Given the description of an element on the screen output the (x, y) to click on. 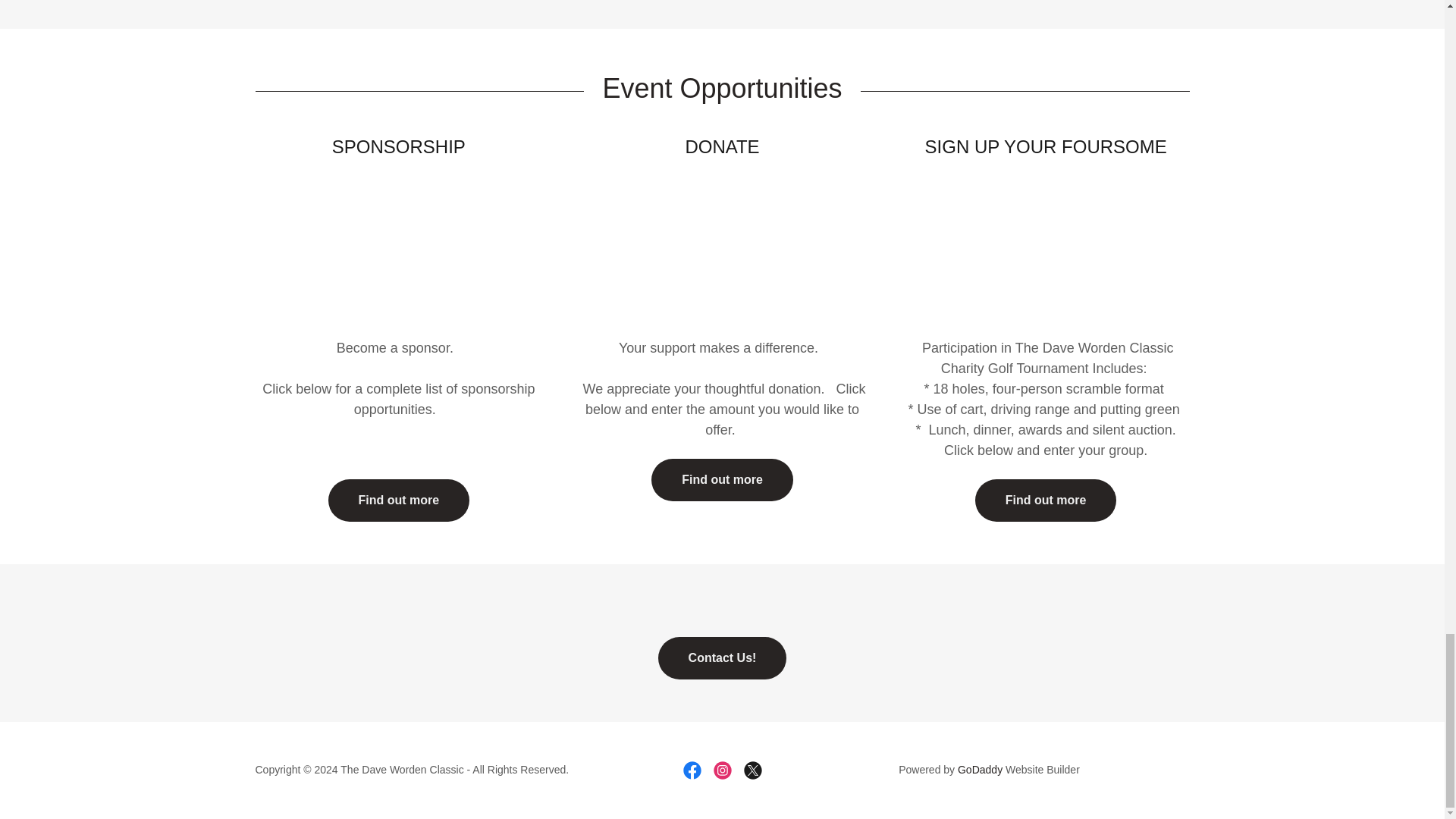
Find out more (1045, 500)
Find out more (399, 500)
GoDaddy (980, 769)
Contact Us! (722, 658)
Find out more (721, 479)
